Given the description of an element on the screen output the (x, y) to click on. 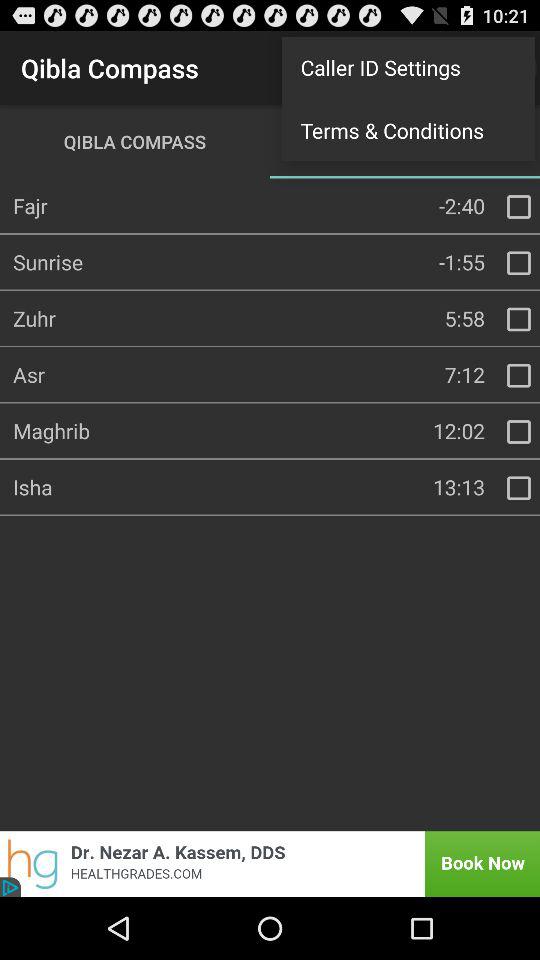
selecting box (519, 319)
